Given the description of an element on the screen output the (x, y) to click on. 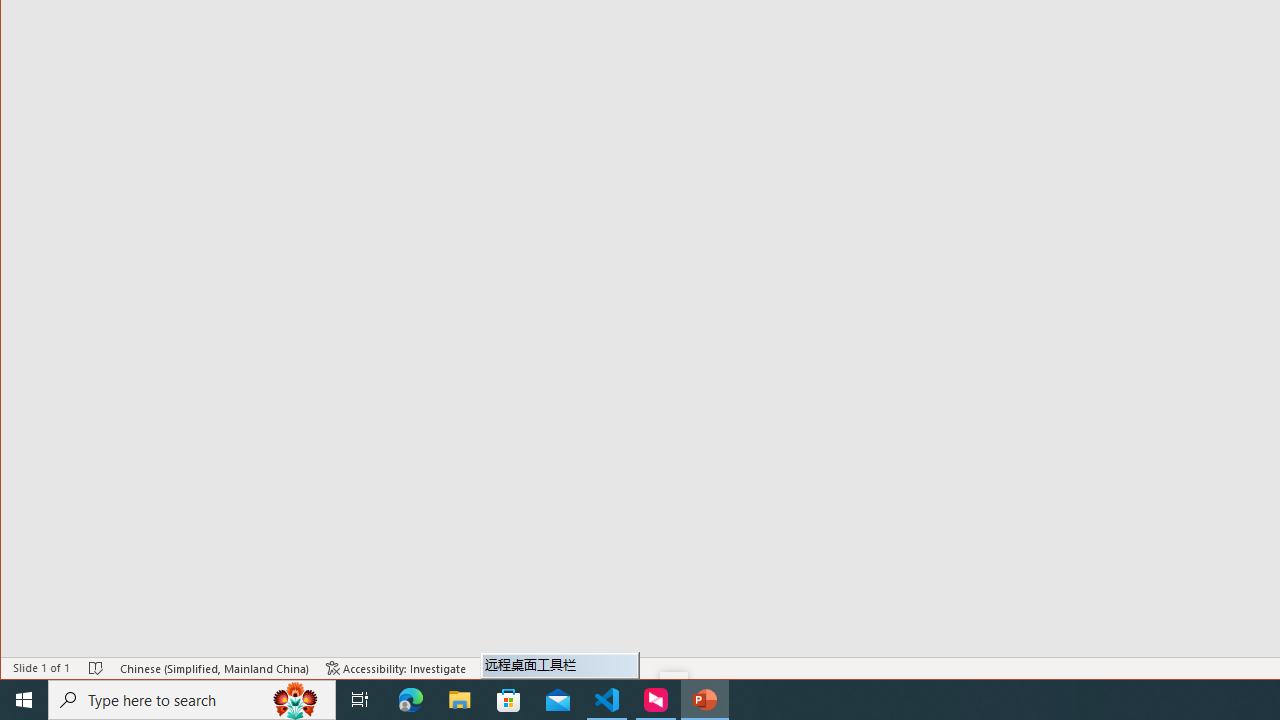
Visual Studio Code - 1 running window (607, 699)
Microsoft Store (509, 699)
Type here to search (191, 699)
Microsoft Edge (411, 699)
Start (24, 699)
Search highlights icon opens search home window (295, 699)
File Explorer (460, 699)
PowerPoint - 1 running window (704, 699)
Task View (359, 699)
